Given the description of an element on the screen output the (x, y) to click on. 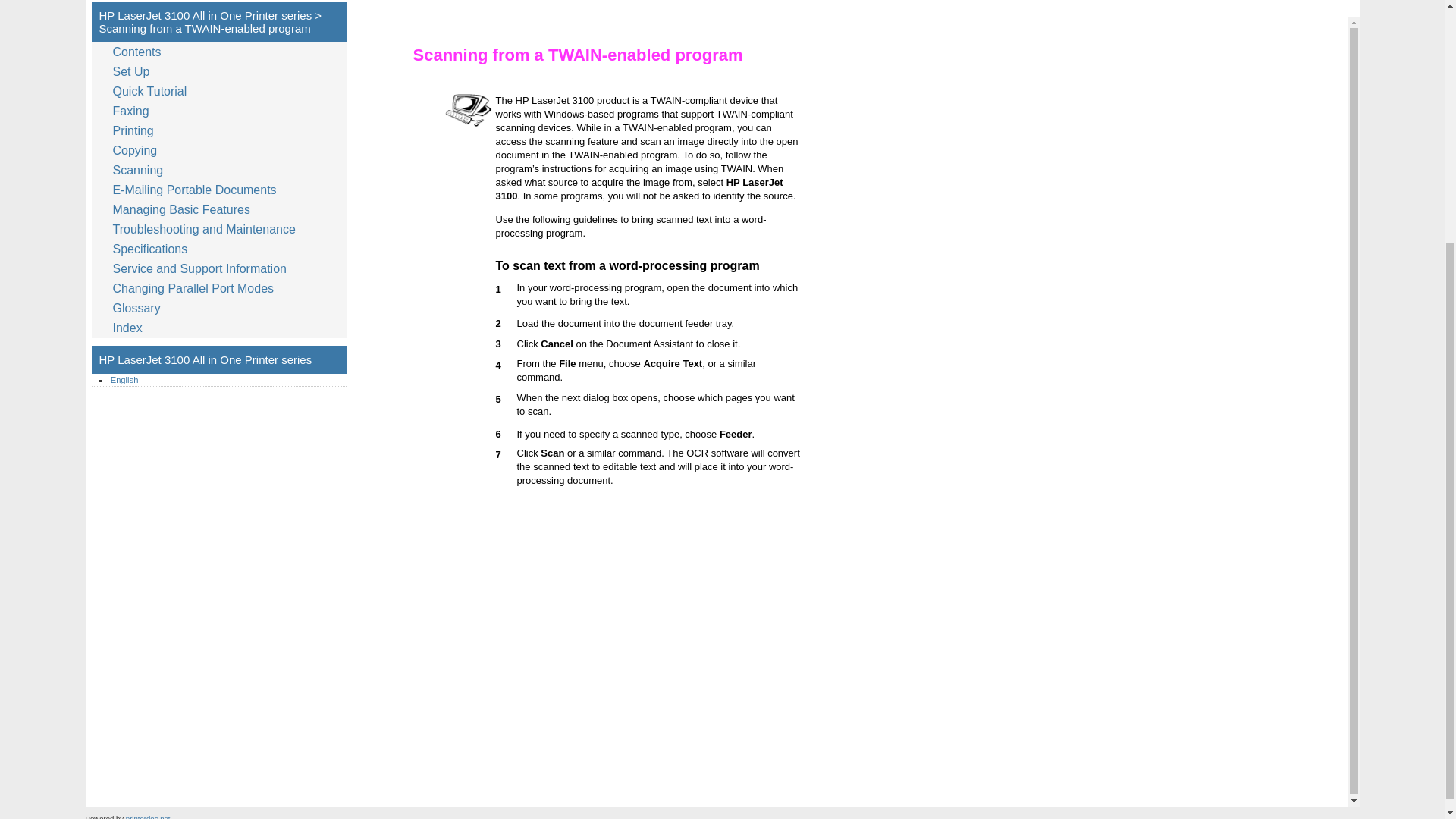
Contents (140, 52)
Set Up (134, 71)
Advertisement (480, 2)
